Given the description of an element on the screen output the (x, y) to click on. 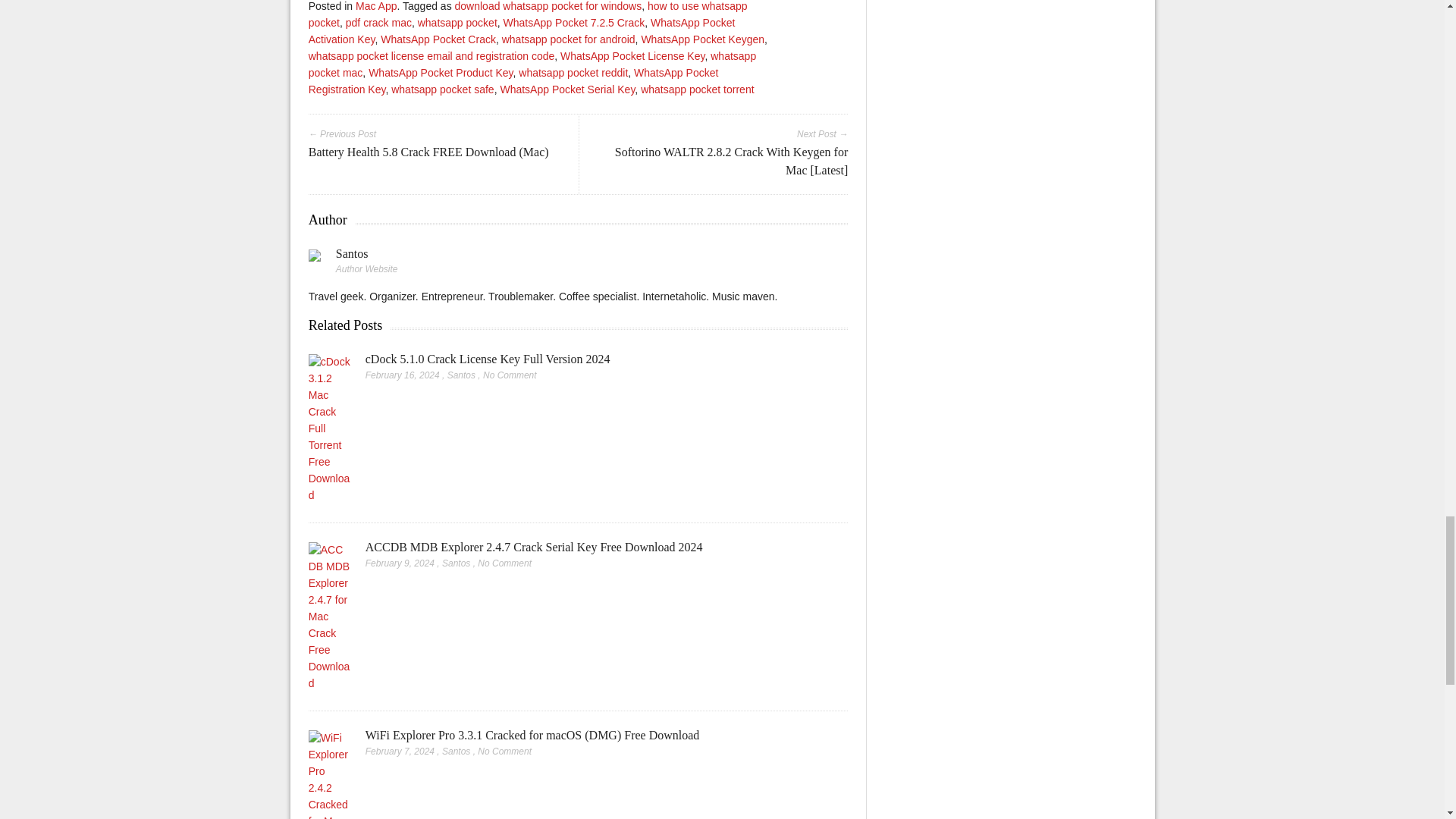
pdf crack mac (379, 22)
Mac App (375, 6)
Posts by Santos (352, 253)
WhatsApp Pocket Registration Key (513, 80)
WhatsApp Pocket 7.2.5 Crack (574, 22)
download whatsapp pocket for windows (548, 6)
ACCDB MDB Explorer 2.4.7 Crack Serial Key Free Download 2024 (534, 546)
WhatsApp Pocket Keygen (702, 39)
WhatsApp Pocket Activation Key (521, 30)
whatsapp pocket for android (568, 39)
WhatsApp Pocket Product Key (440, 72)
Posts by Santos (461, 375)
whatsapp pocket safe (442, 89)
whatsapp pocket (457, 22)
whatsapp pocket mac (531, 63)
